Given the description of an element on the screen output the (x, y) to click on. 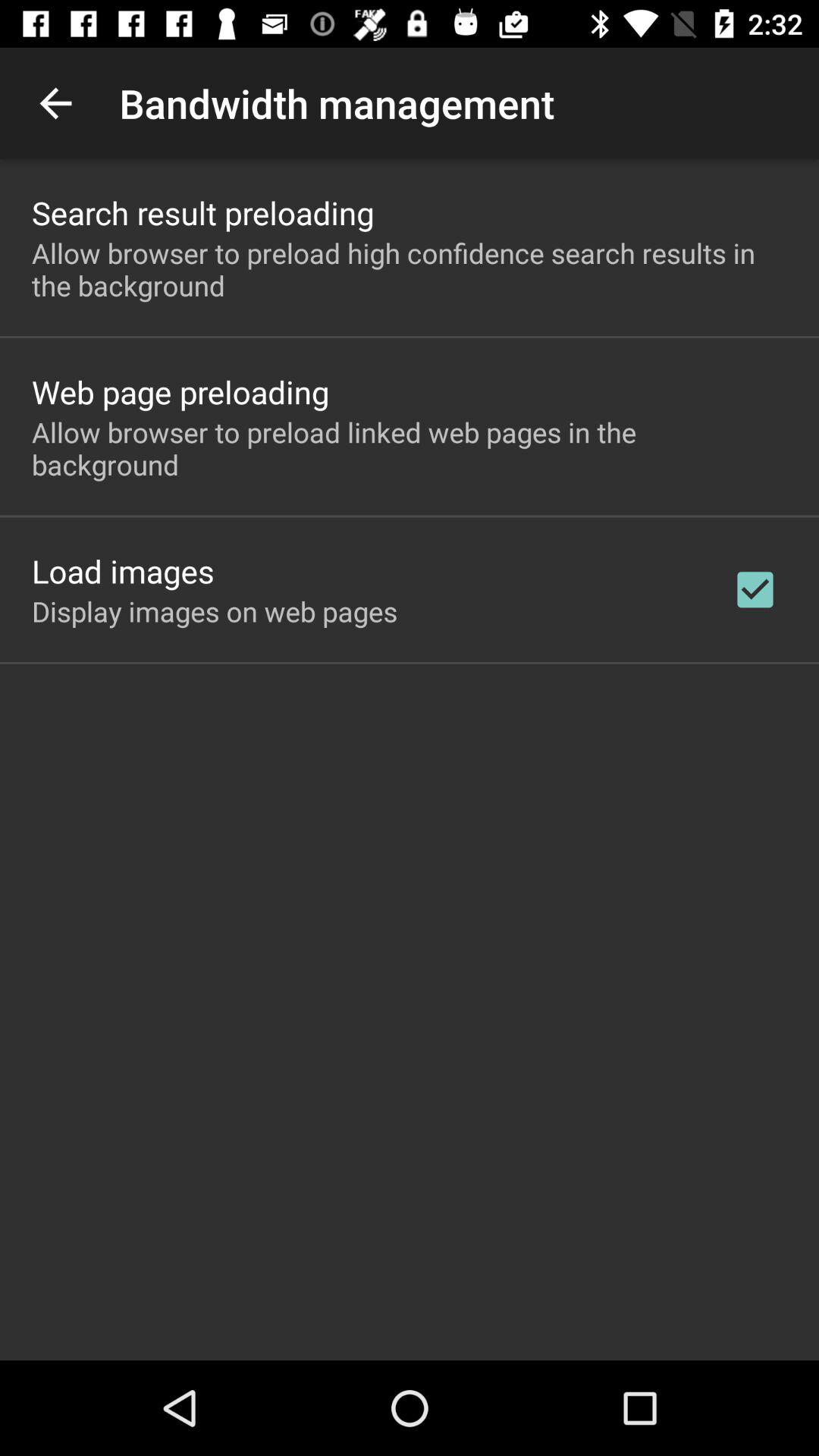
launch web page preloading icon (180, 391)
